Given the description of an element on the screen output the (x, y) to click on. 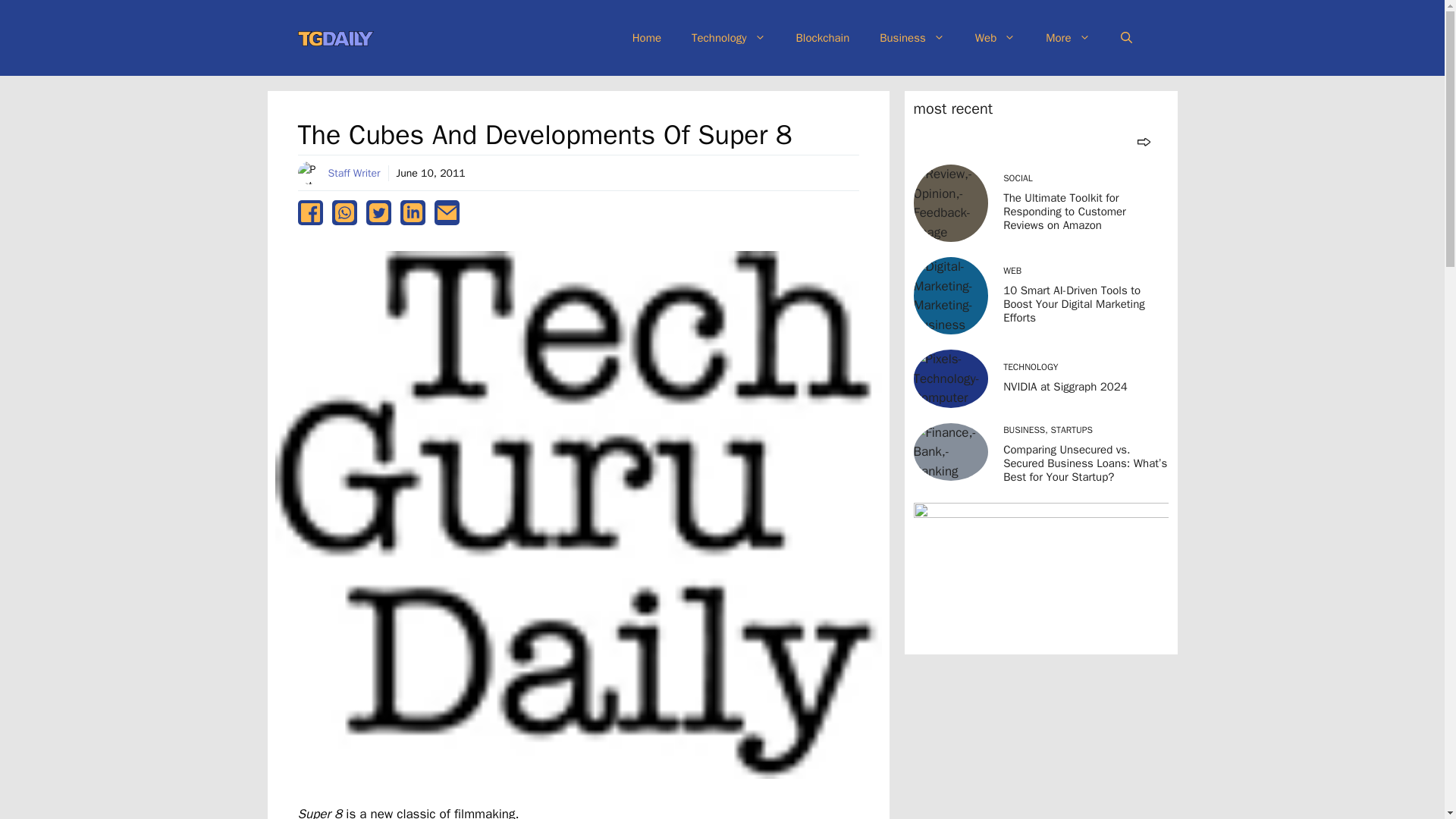
More (1067, 37)
Web (994, 37)
Blockchain (822, 37)
Technology (728, 37)
Business (911, 37)
Home (647, 37)
purple-600x400-1 (1039, 573)
